Given the description of an element on the screen output the (x, y) to click on. 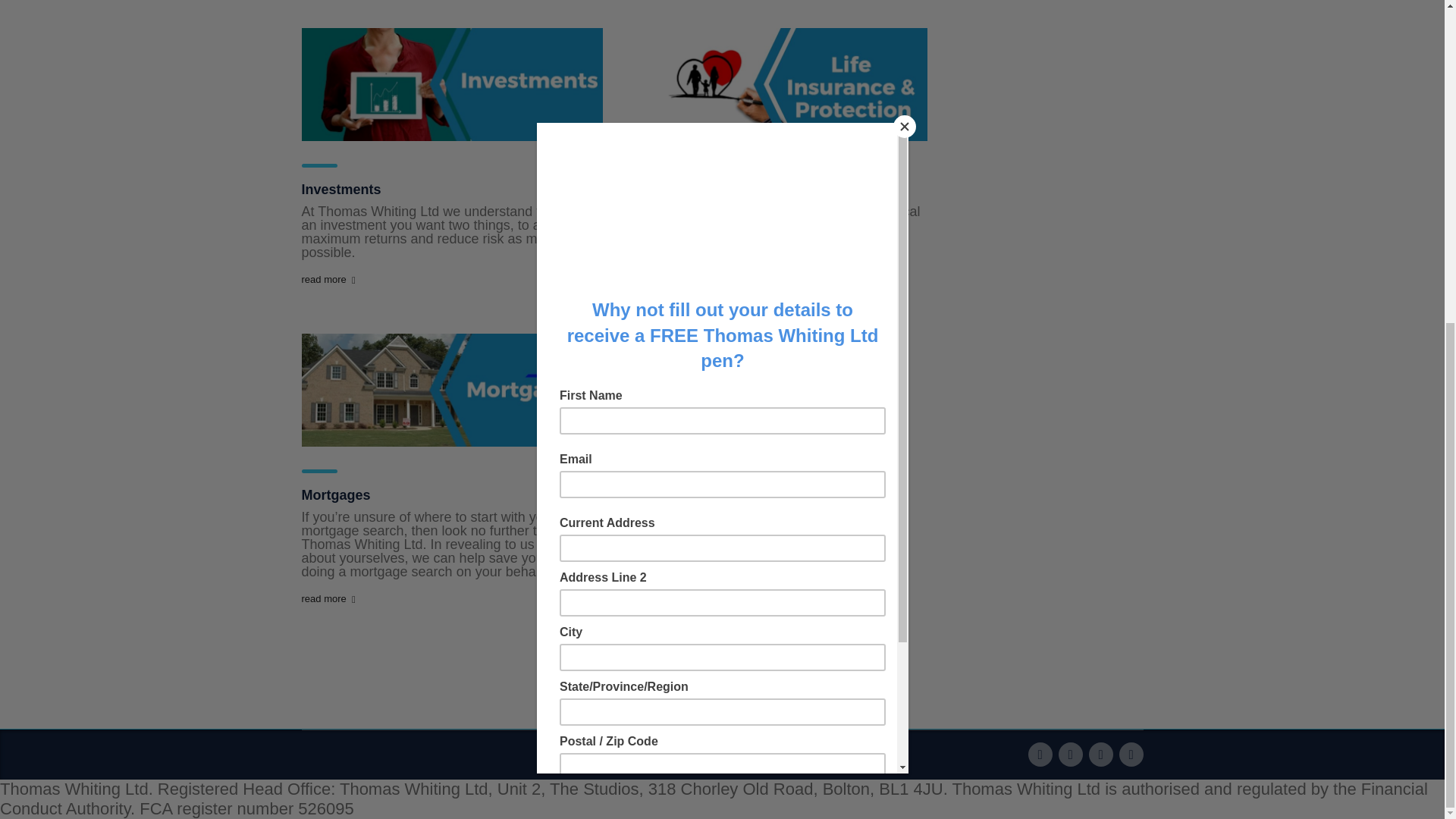
life insutrance header (776, 83)
mortages header pic (452, 389)
investments header (452, 83)
